Given the description of an element on the screen output the (x, y) to click on. 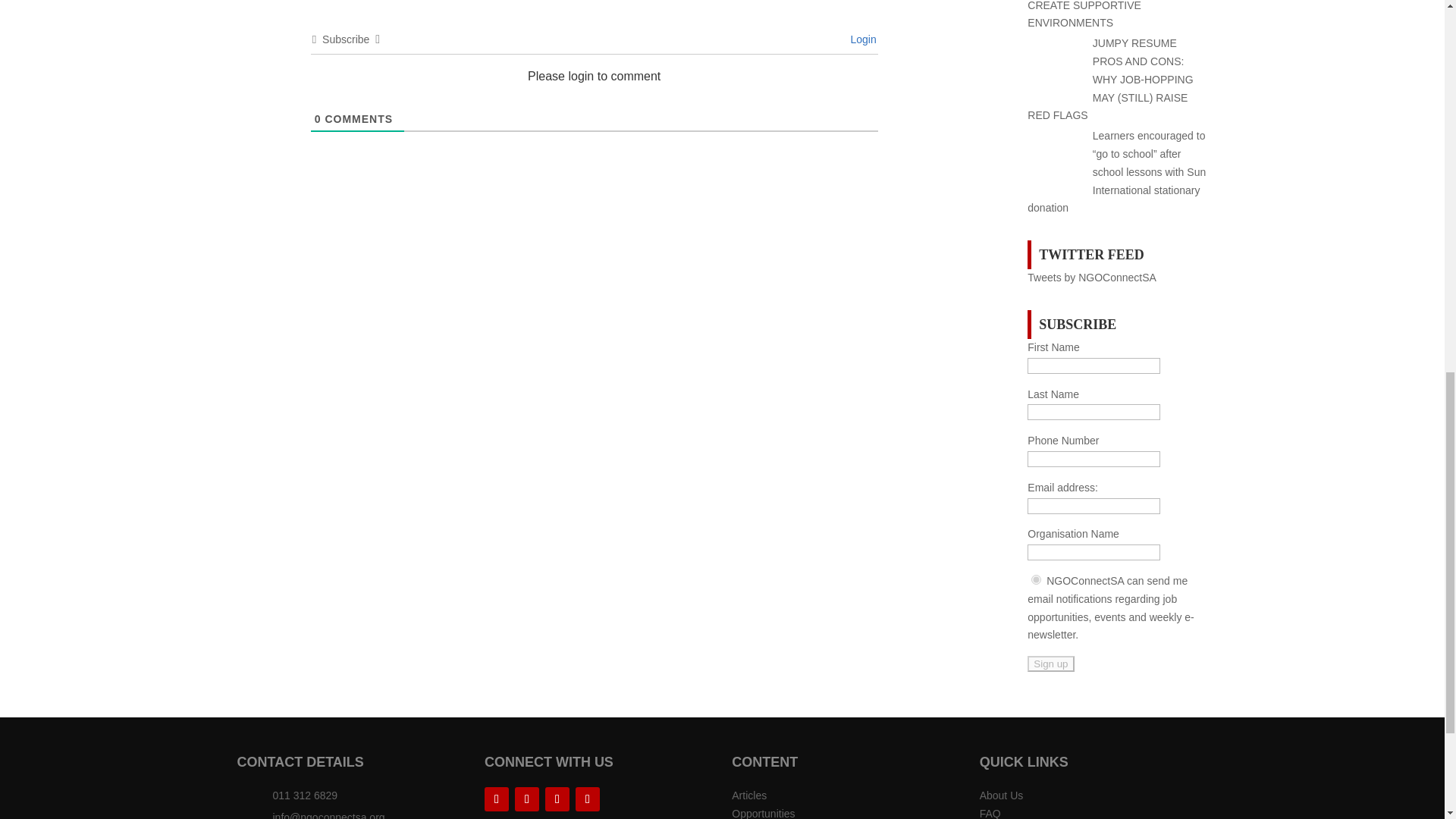
Sign up (1050, 663)
Login (860, 39)
Follow on LinkedIn (496, 799)
011 312 6829 (305, 795)
subscribe (1035, 579)
Tweets by NGOConnectSA (1091, 277)
Follow on Facebook (526, 799)
Follow on Youtube (587, 799)
Sign up (1050, 663)
